Given the description of an element on the screen output the (x, y) to click on. 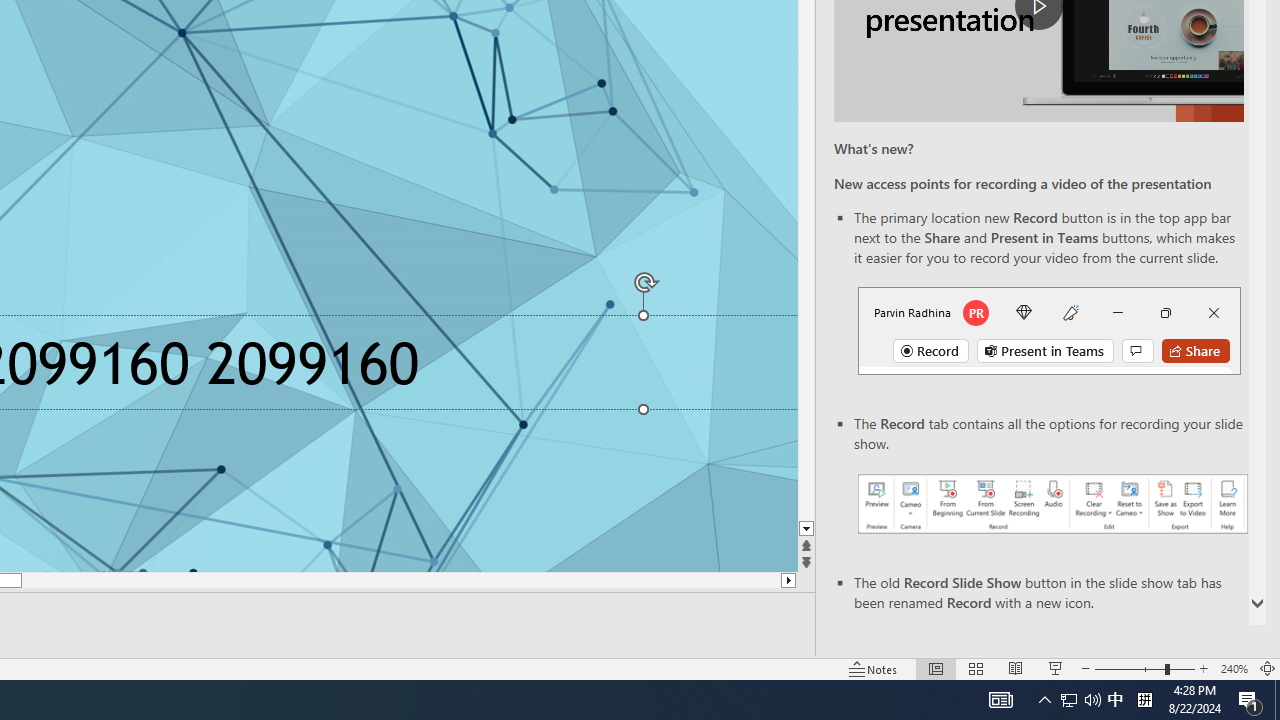
Zoom Out (1129, 668)
Notes  (874, 668)
Record your presentations screenshot one (1052, 503)
Normal (936, 668)
Slide Show (1055, 668)
Slide Sorter (975, 668)
Reading View (1015, 668)
Zoom 240% (1234, 668)
Zoom In (1204, 668)
Record button in top bar (1049, 331)
Zoom (1144, 668)
Zoom to Fit  (1267, 668)
